Given the description of an element on the screen output the (x, y) to click on. 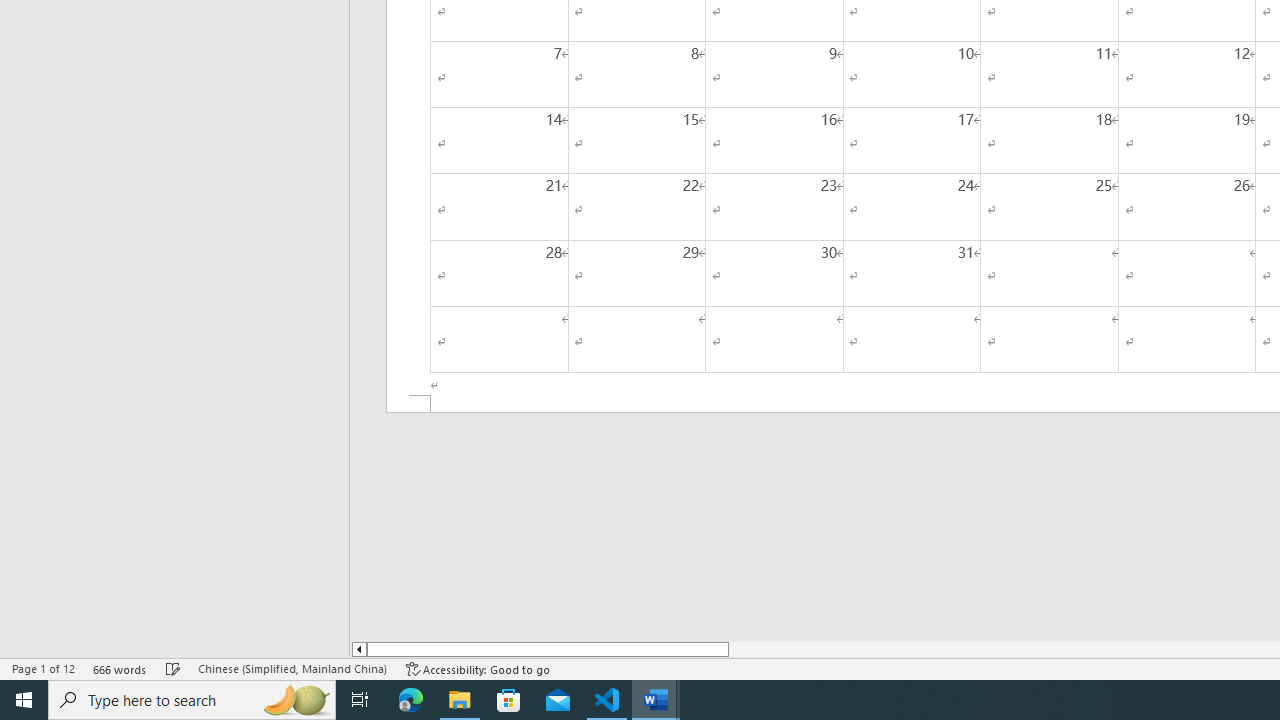
Word Count 666 words (119, 668)
Column left (358, 649)
Page Number Page 1 of 12 (43, 668)
